Given the description of an element on the screen output the (x, y) to click on. 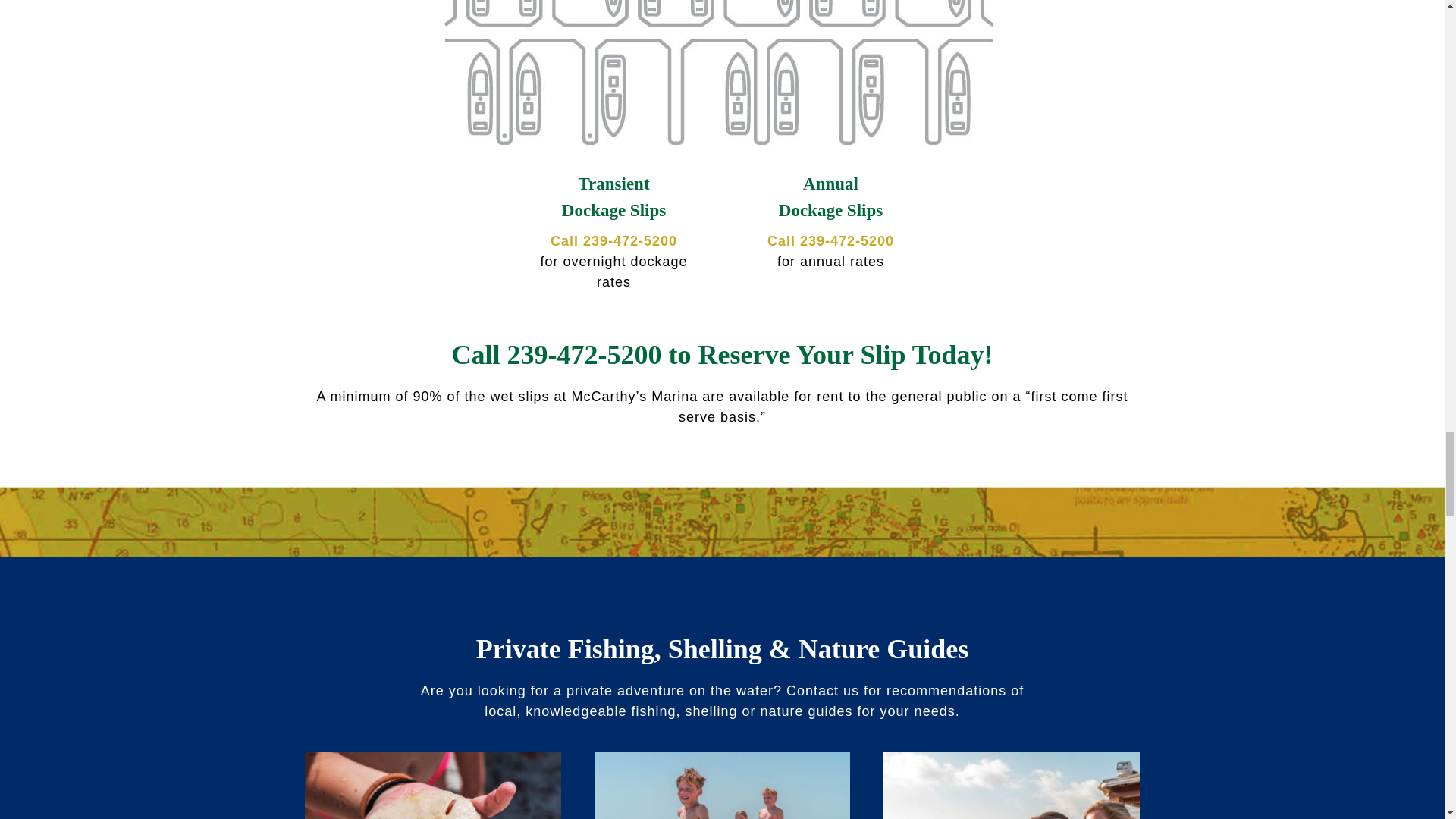
Blueprint-of-Boats-at-Dock (722, 74)
sand-dollar-in-hand (432, 785)
children-running-on-beach (722, 785)
tw-women-on-boat-pointing (1010, 785)
